Given the description of an element on the screen output the (x, y) to click on. 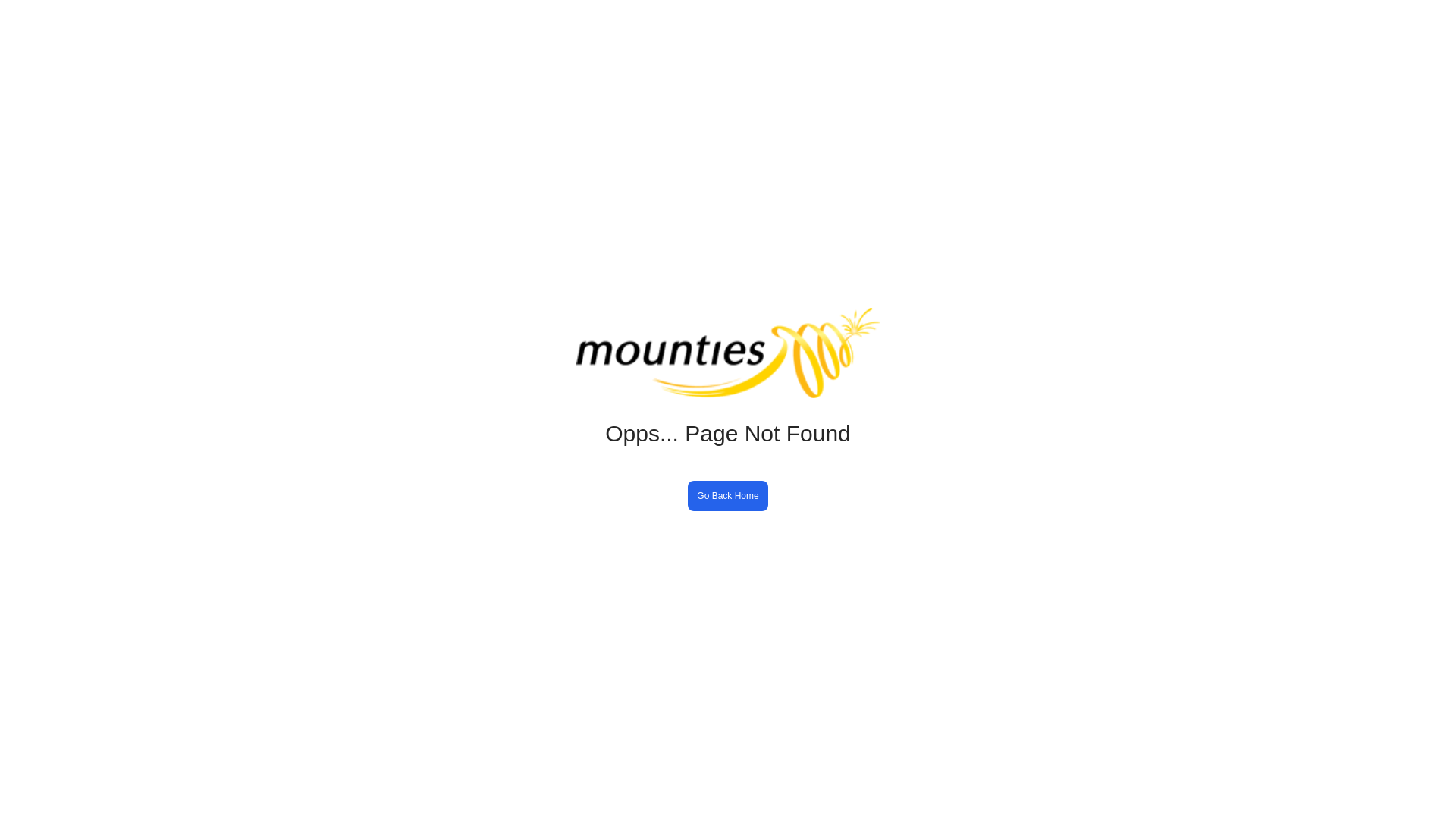
Go Back Home Element type: text (727, 488)
